Given the description of an element on the screen output the (x, y) to click on. 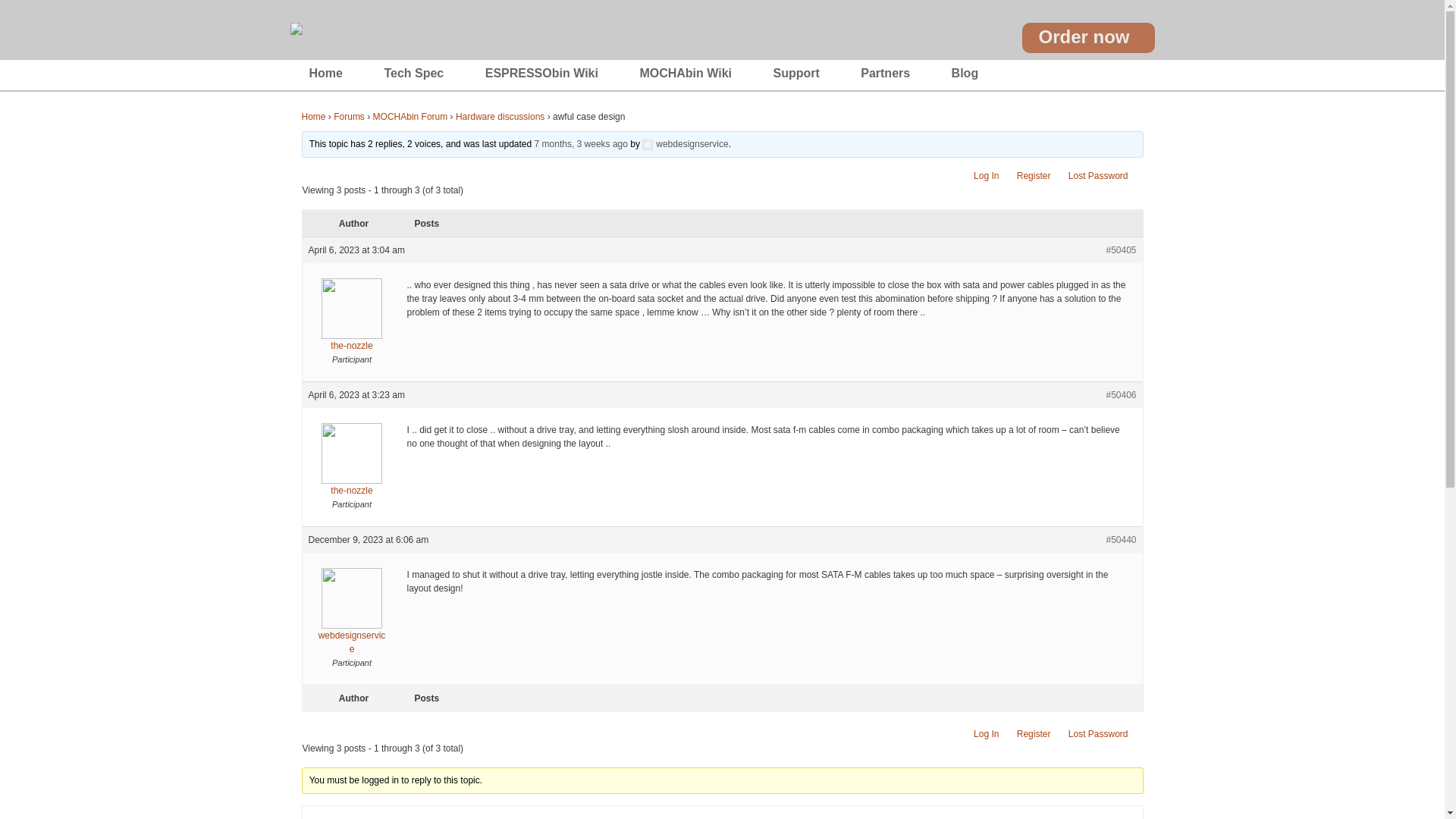
Log In (986, 175)
Tech Spec (414, 74)
Lost Password (1098, 175)
ESPRESSObin Wiki (541, 74)
MOCHAbin Wiki (685, 74)
Home (313, 116)
the-nozzle (350, 470)
webdesignservice (350, 622)
Order now (1088, 37)
View the-nozzle's profile (350, 470)
Register (1033, 733)
Support (796, 74)
View webdesignservice's profile (685, 143)
Home (325, 74)
Partners (884, 74)
